Given the description of an element on the screen output the (x, y) to click on. 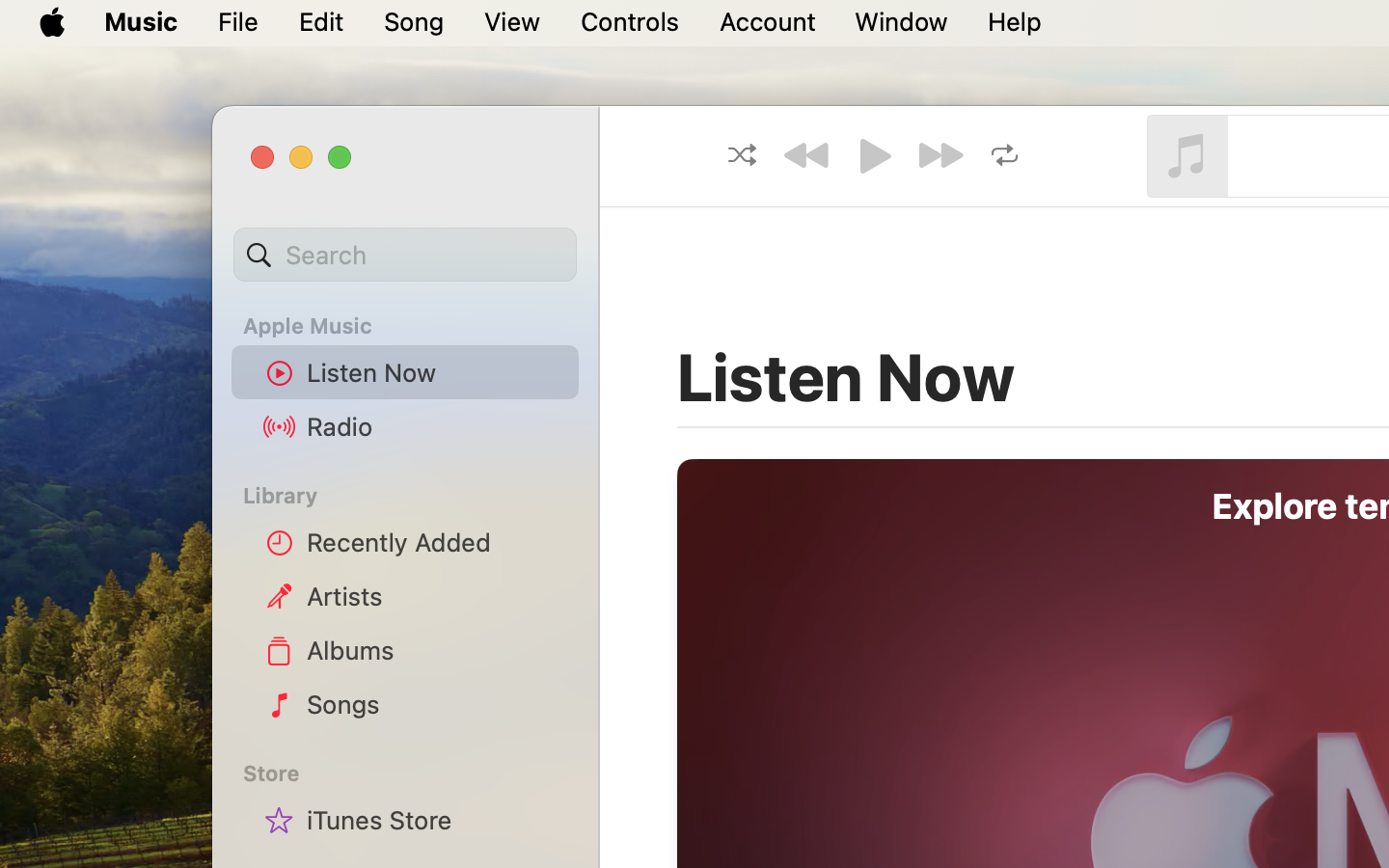
Albums Element type: AXStaticText (434, 649)
Songs Element type: AXStaticText (434, 703)
Library Element type: AXStaticText (404, 495)
Store Element type: AXStaticText (416, 772)
Recently Added Element type: AXStaticText (434, 541)
